Given the description of an element on the screen output the (x, y) to click on. 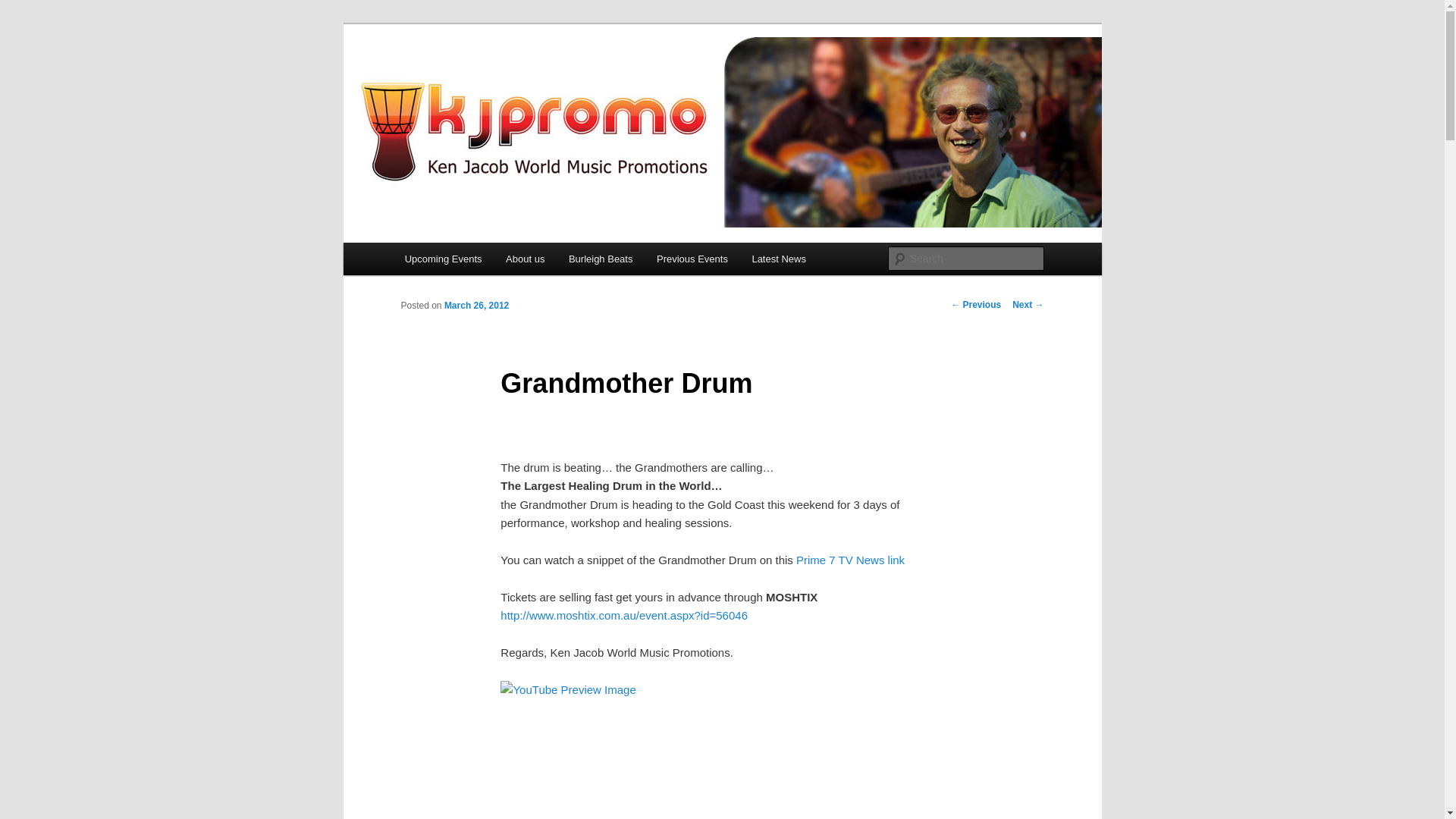
kjpromo Element type: text (444, 78)
Burleigh Beats Element type: text (600, 258)
Upcoming Events Element type: text (442, 258)
Skip to primary content Element type: text (472, 261)
Latest News Element type: text (779, 258)
Search Element type: text (24, 8)
http://www.moshtix.com.au/event.aspx?id=56046 Element type: text (623, 614)
March 26, 2012 Element type: text (476, 305)
About us Element type: text (524, 258)
Prime 7 TV News link Element type: text (850, 559)
Previous Events Element type: text (691, 258)
